Given the description of an element on the screen output the (x, y) to click on. 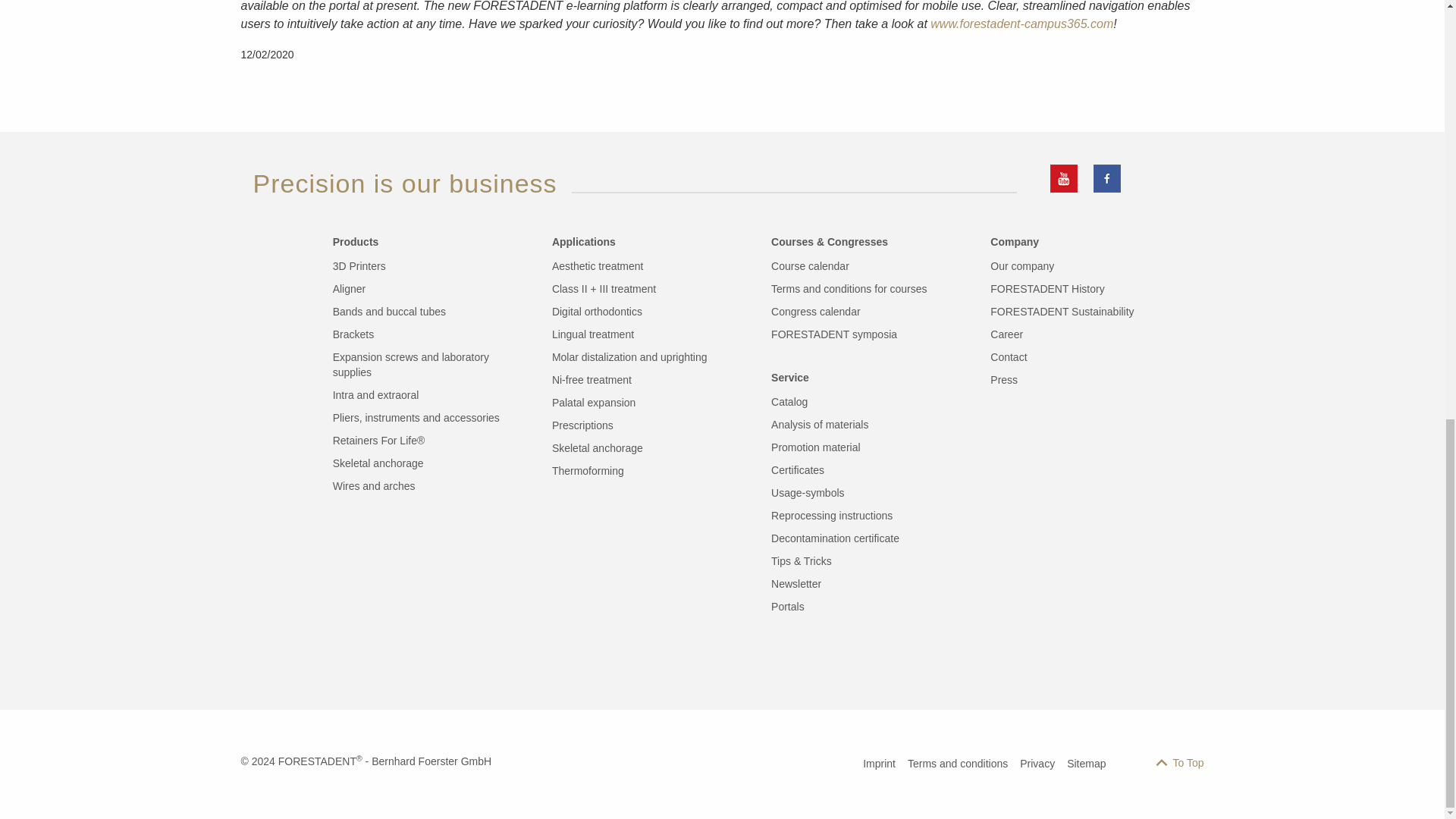
Facebook (1107, 178)
YouTube (1063, 178)
Start with us in a new age. (596, 311)
